Given the description of an element on the screen output the (x, y) to click on. 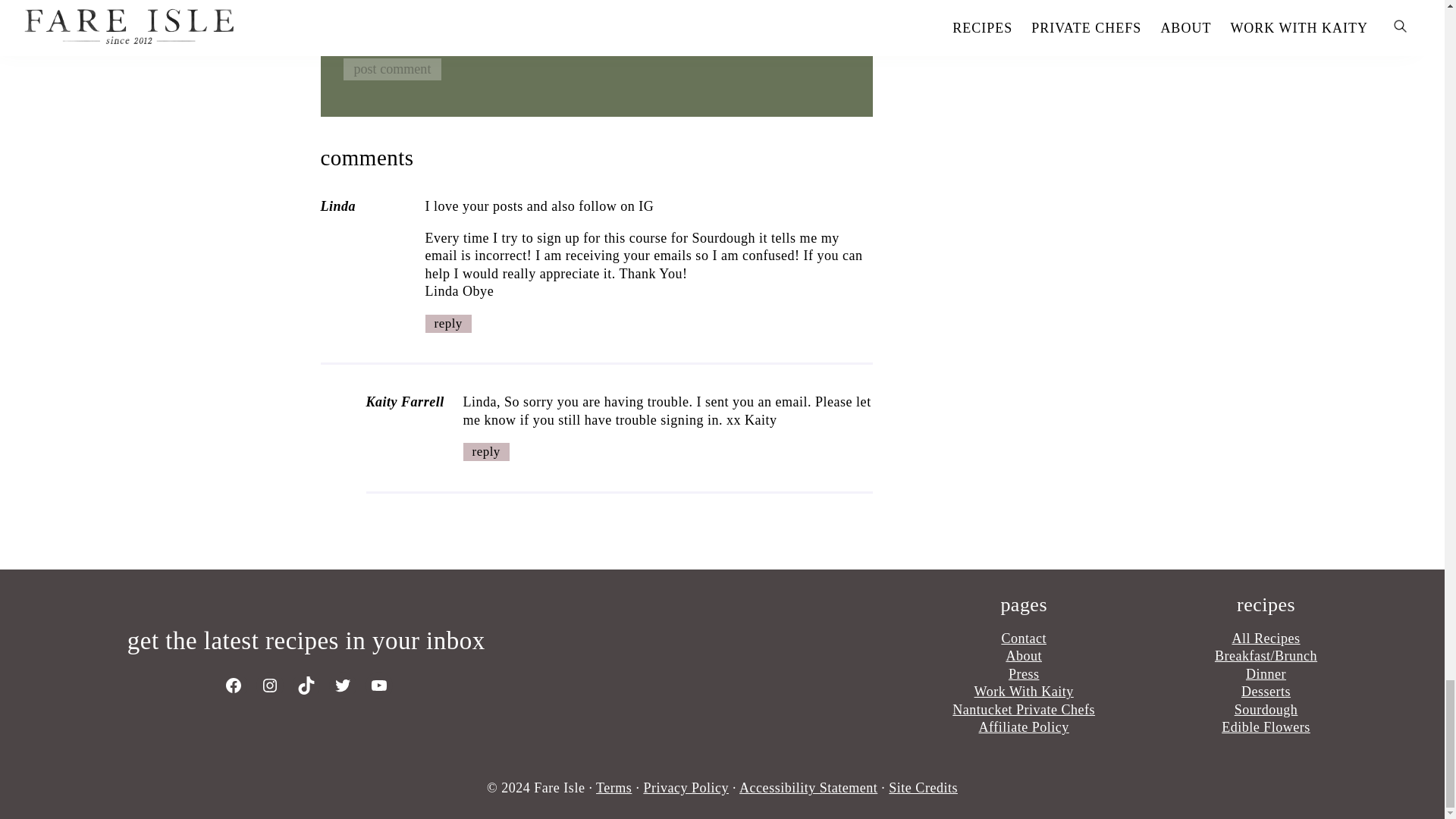
reply (447, 323)
reply (485, 452)
yes (347, 35)
Post Comment (391, 69)
Post Comment (391, 69)
